Given the description of an element on the screen output the (x, y) to click on. 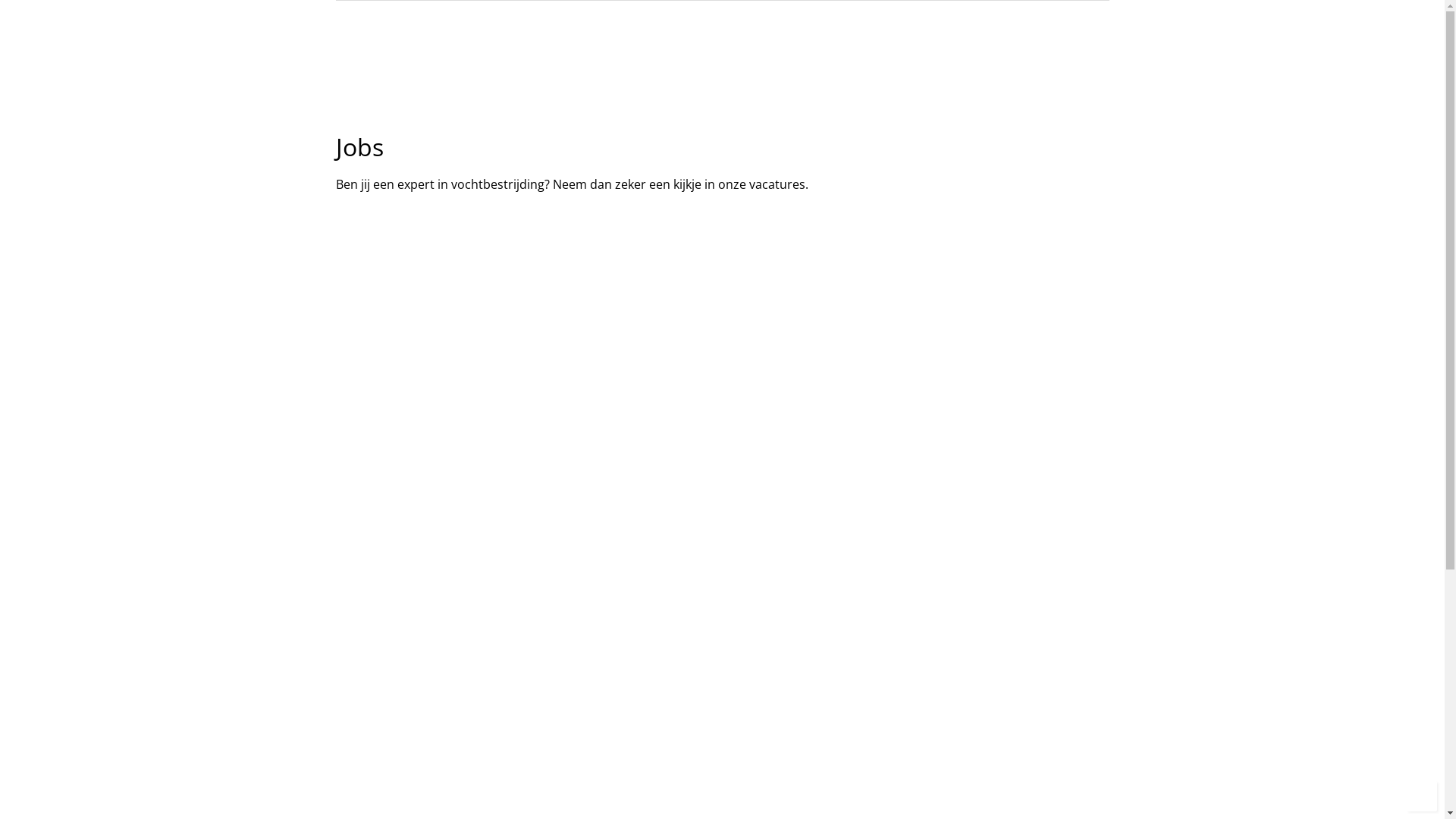
Inschrijven Element type: text (906, 345)
Lees hier onze Privacy & Cookies regels Element type: text (957, 381)
